Given the description of an element on the screen output the (x, y) to click on. 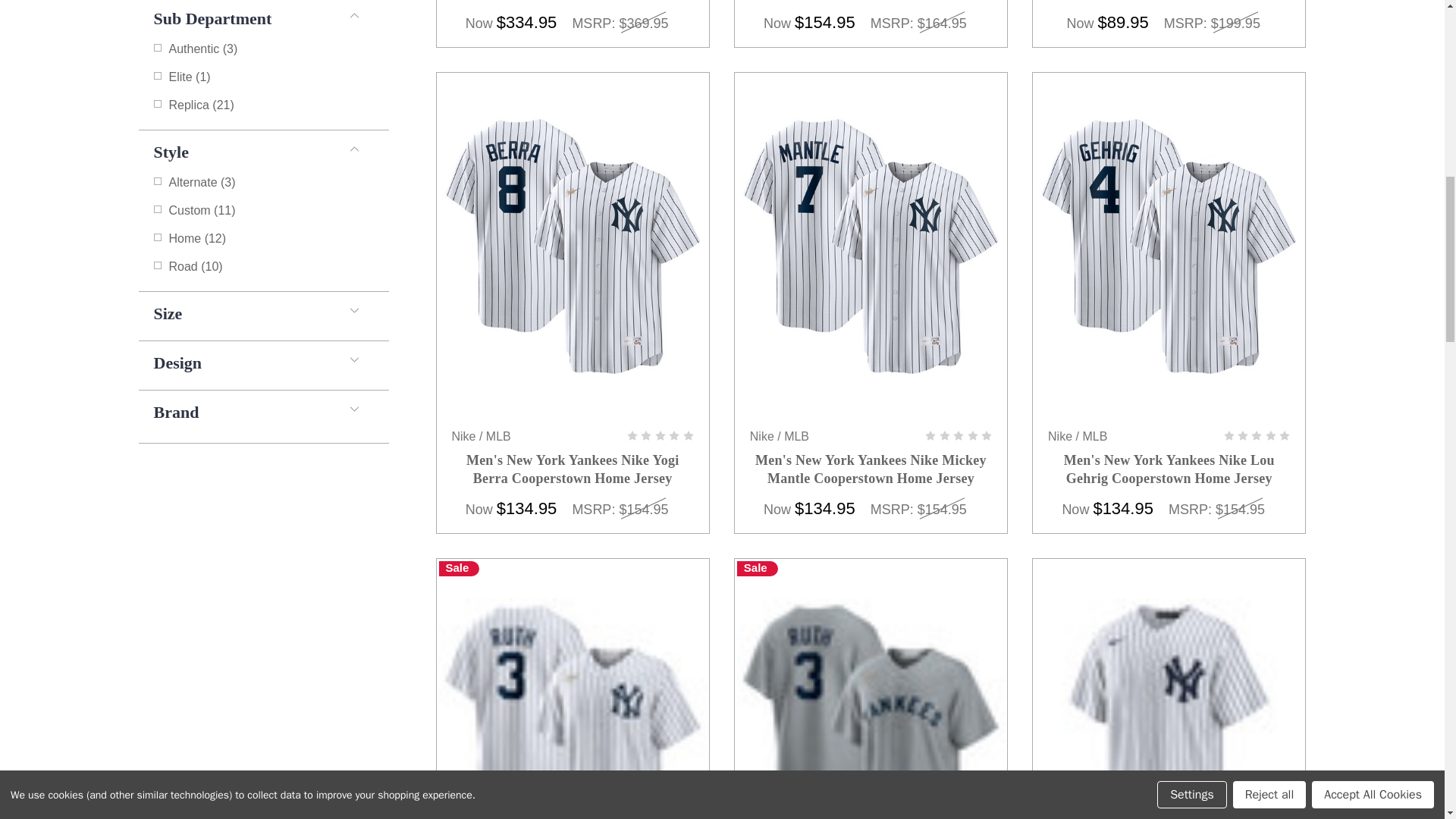
Men's New York Yankees Nike Home Replica Jersey (1169, 708)
